Given the description of an element on the screen output the (x, y) to click on. 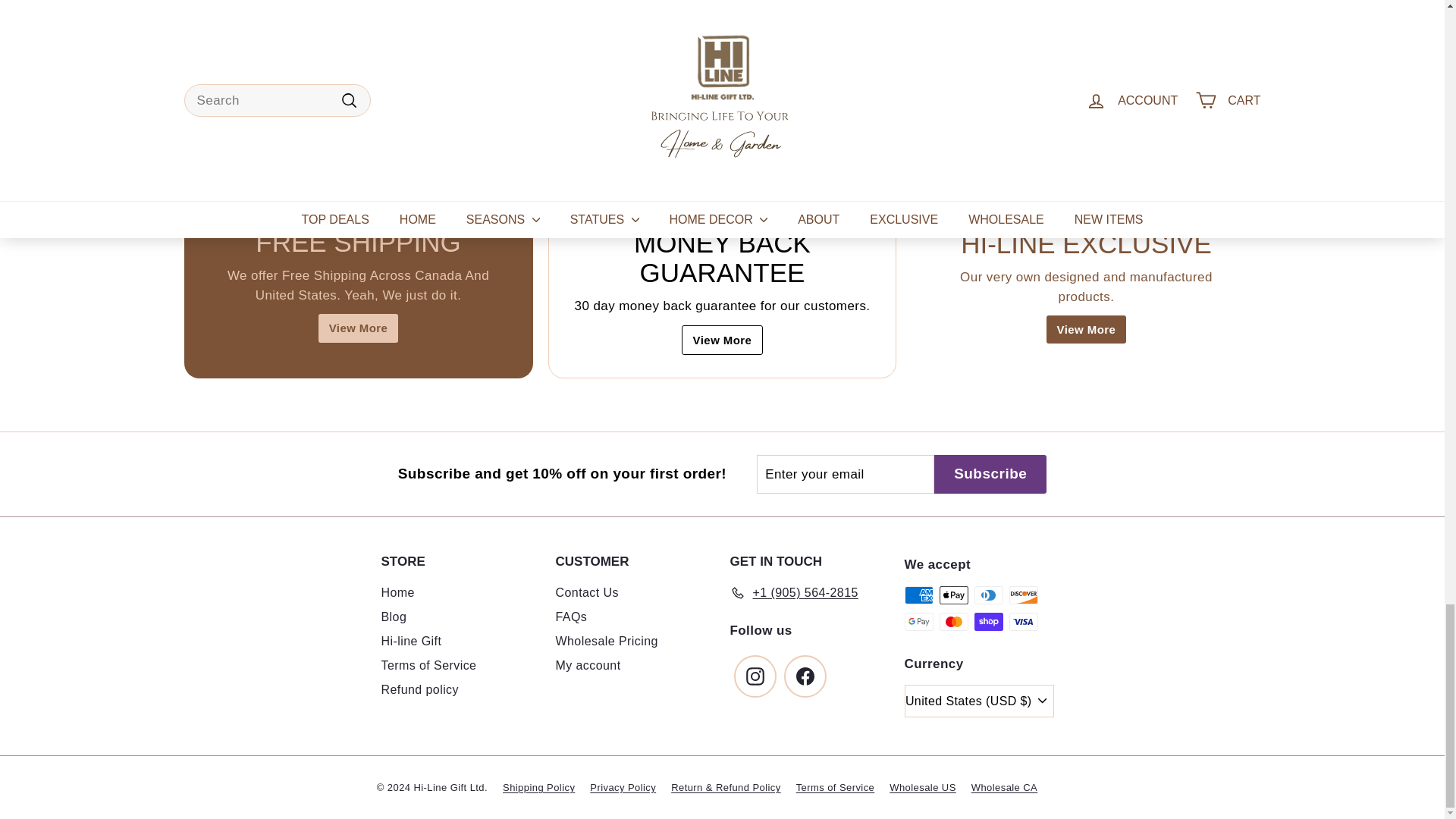
instagram (754, 676)
Hi-Line Gift Ltd. on Facebook (805, 676)
Hi-Line Gift Ltd. on Instagram (754, 676)
